Given the description of an element on the screen output the (x, y) to click on. 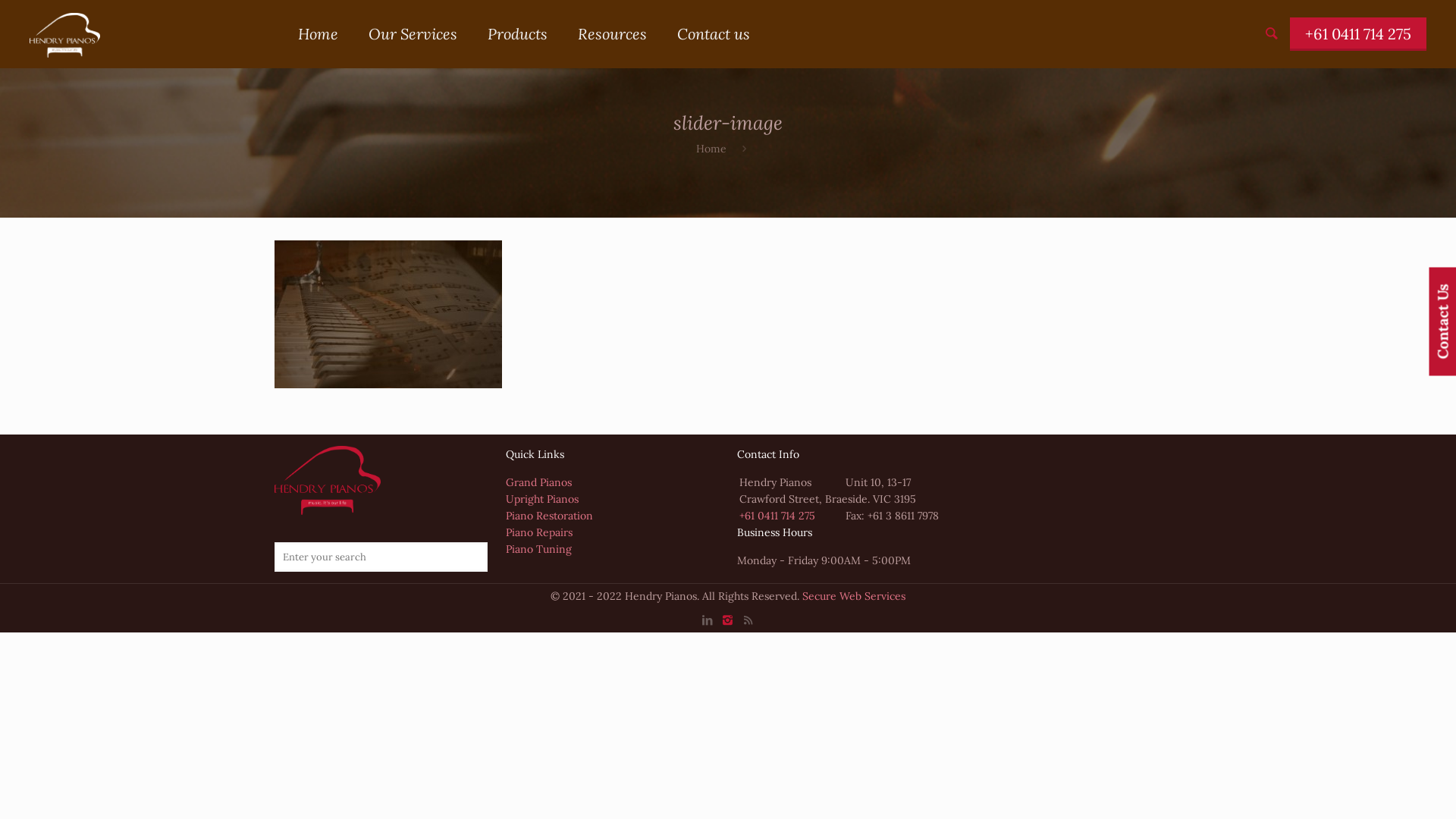
Hendry Pianos Element type: hover (64, 34)
Home Element type: text (711, 148)
Piano Repairs Element type: text (538, 532)
Secure Web Services Element type: text (853, 595)
Our Services Element type: text (412, 34)
Piano Restoration Element type: text (549, 515)
Upright Pianos Element type: text (541, 498)
Piano Tuning Element type: text (538, 548)
+61 0411 714 275 Element type: text (777, 515)
Grand Pianos Element type: text (538, 482)
Resources Element type: text (612, 34)
Instagram Element type: hover (727, 619)
+61 0411 714 275 Element type: text (1357, 33)
LinkedIn Element type: hover (707, 619)
Home Element type: text (317, 34)
Products Element type: text (517, 34)
Contact us Element type: text (713, 34)
RSS Element type: hover (748, 619)
